Given the description of an element on the screen output the (x, y) to click on. 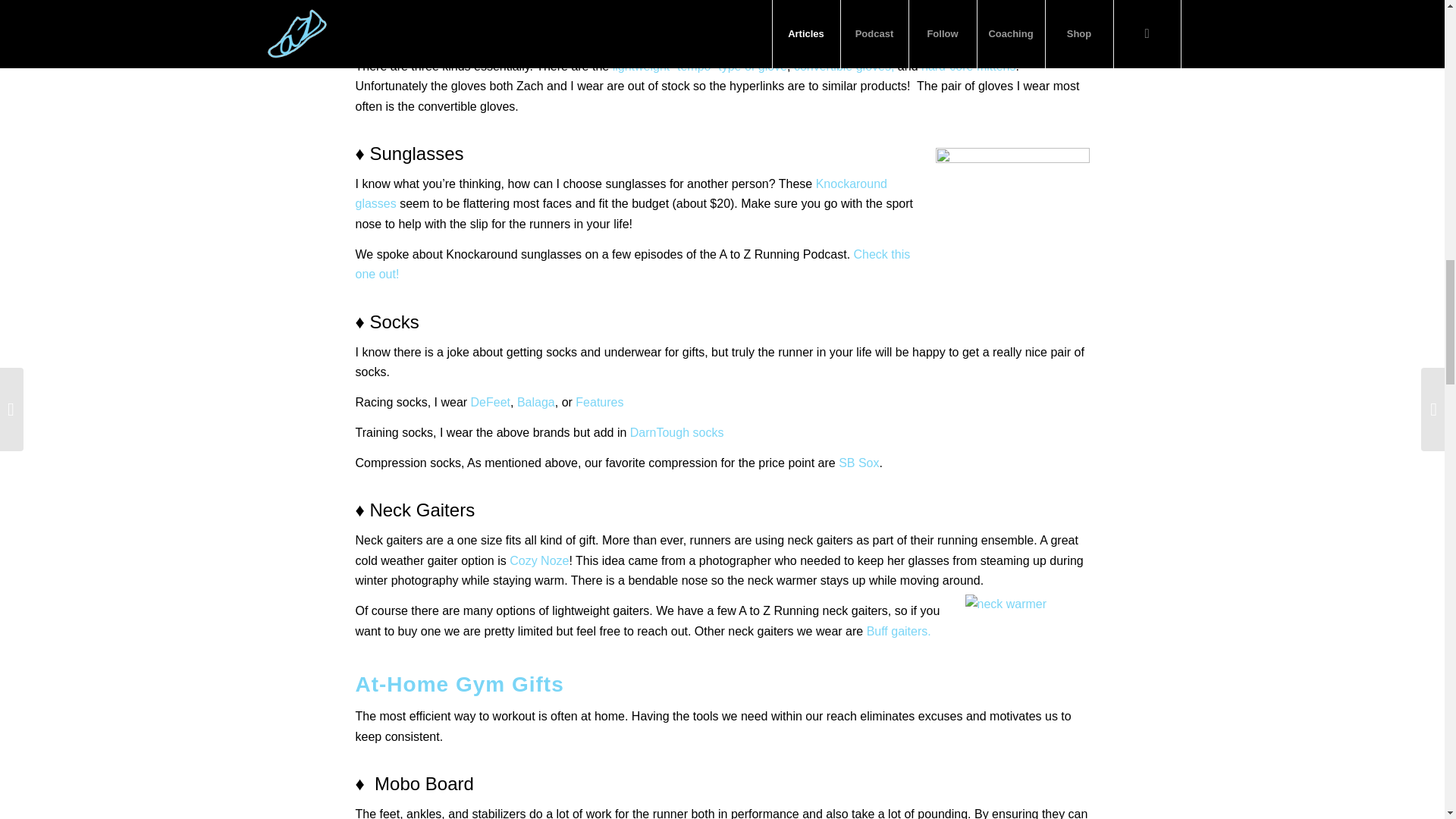
DeFeet (490, 401)
SB Sox (858, 462)
Knockaround glasses (620, 193)
convertible gloves, (844, 65)
Balaga (535, 401)
Features (599, 401)
Check this one out! (632, 264)
Buff gaiters.  (900, 631)
DarnTough socks (676, 431)
hard-core mittens (968, 65)
